Given the description of an element on the screen output the (x, y) to click on. 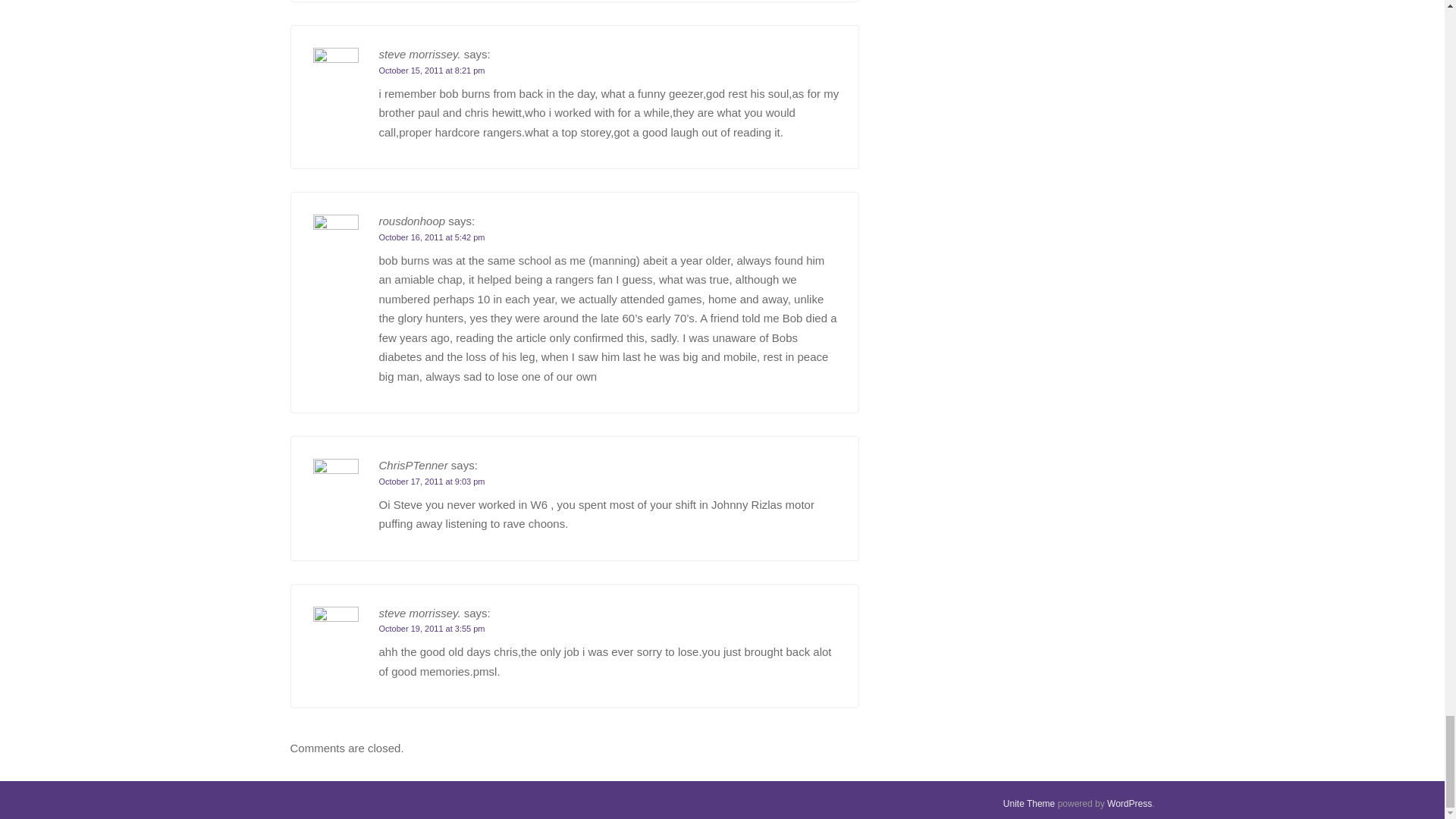
October 17, 2011 at 9:03 pm (431, 481)
October 15, 2011 at 8:21 pm (431, 70)
October 16, 2011 at 5:42 pm (431, 236)
October 19, 2011 at 3:55 pm (431, 628)
